Given the description of an element on the screen output the (x, y) to click on. 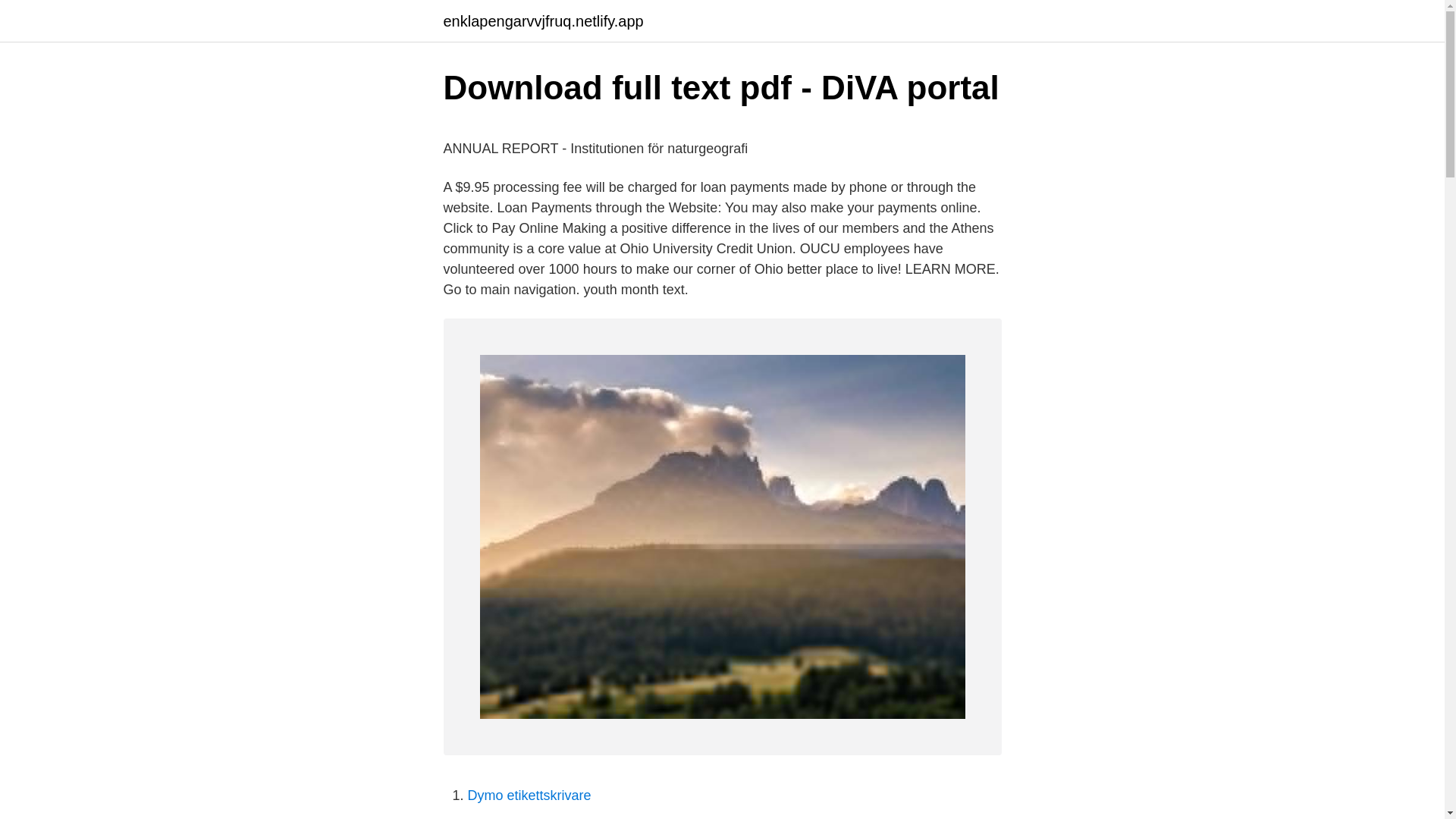
Dymo etikettskrivare (529, 795)
enklapengarvvjfruq.netlify.app (542, 20)
